Given the description of an element on the screen output the (x, y) to click on. 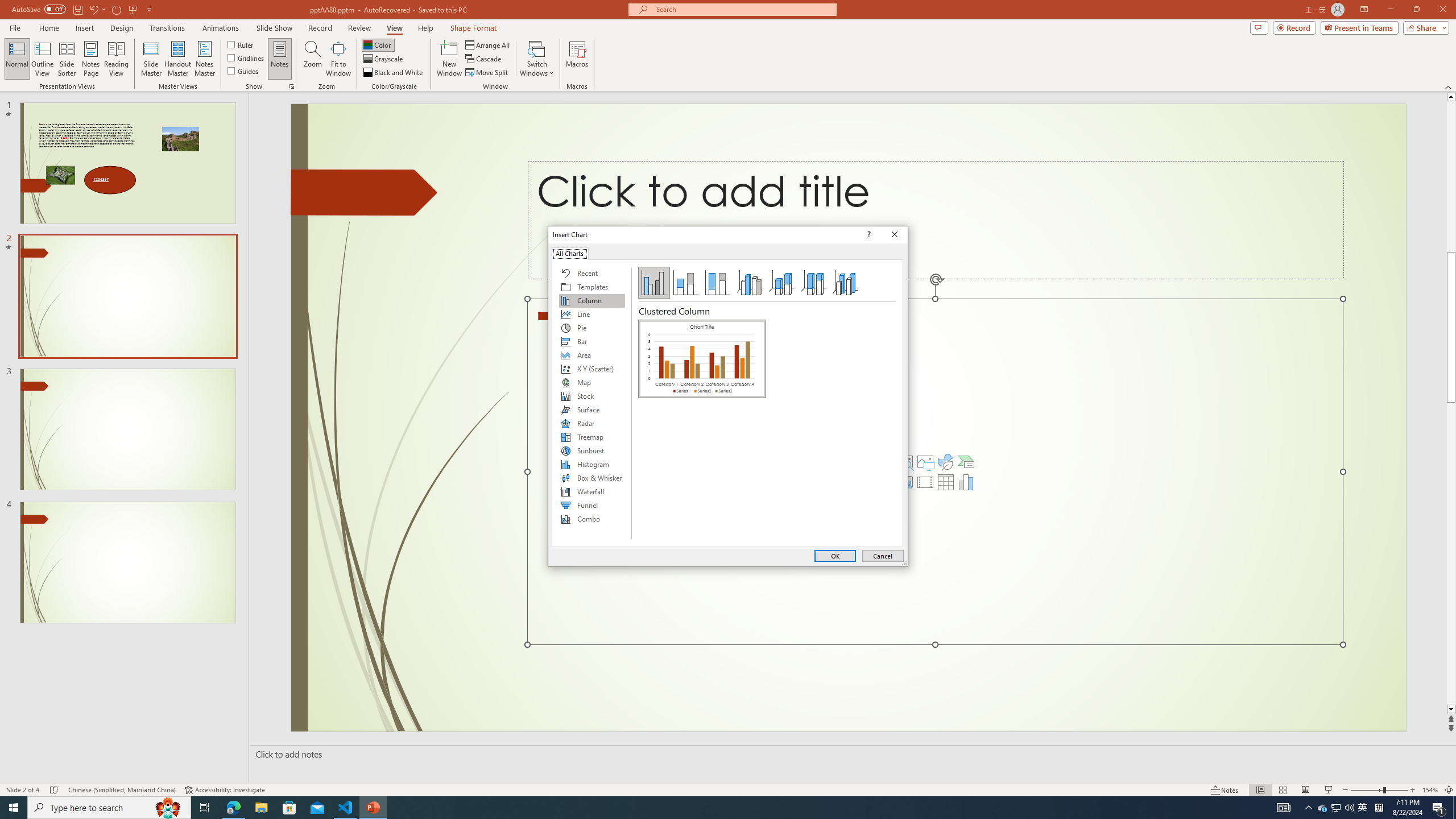
3-D Clustered Column (749, 282)
Cascade (484, 58)
Notes Master (204, 58)
Histogram (591, 464)
Stock (591, 395)
3-D Column (844, 282)
3-D 100% Stacked Column (813, 282)
Macros (576, 58)
